Given the description of an element on the screen output the (x, y) to click on. 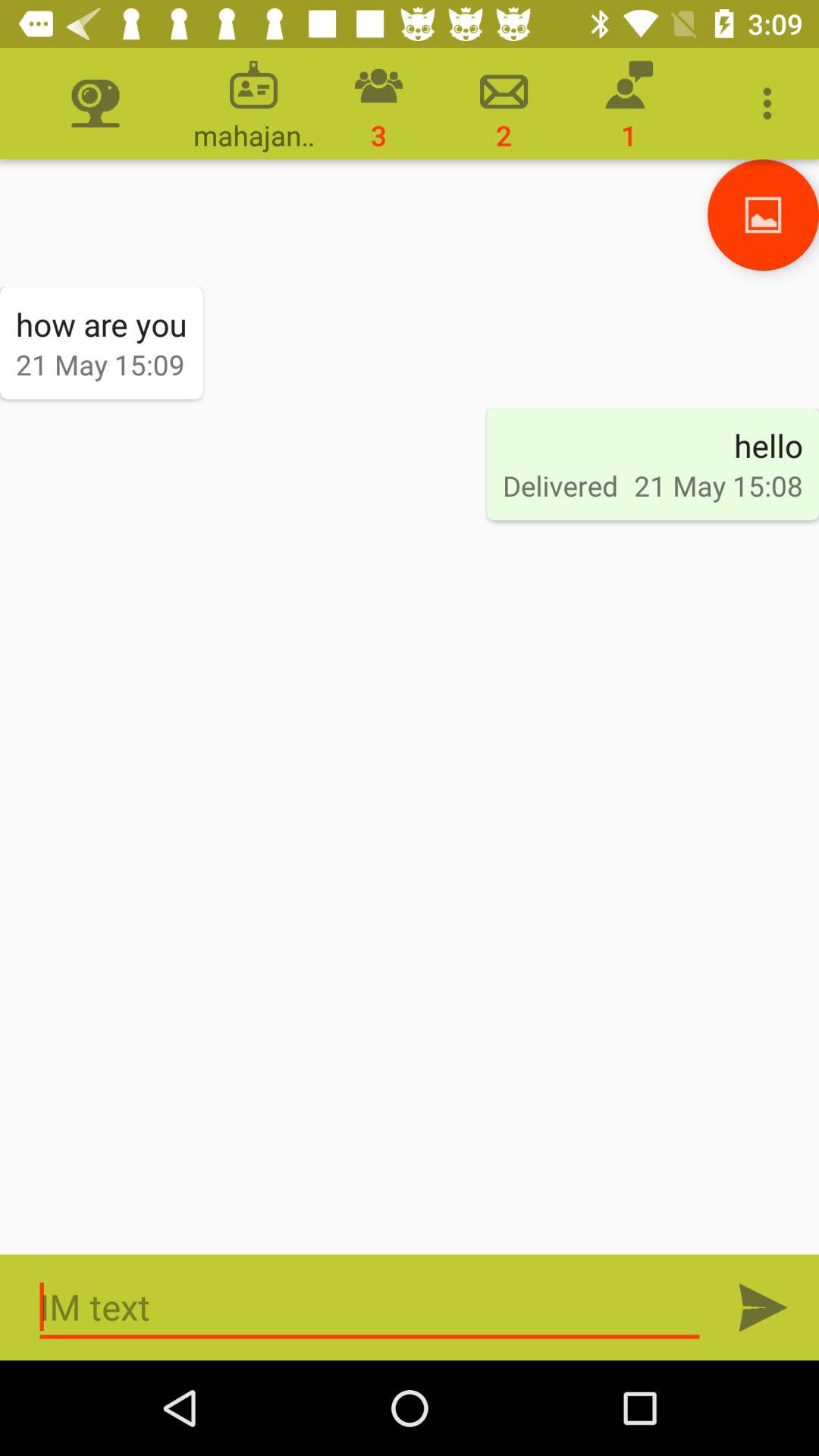
click on the group icon which has the text 3 (378, 103)
click on the second icon from top right corner (628, 103)
select the symbol at the bottom right corner of the page (763, 1307)
select the icon top to hello (763, 214)
select the field which contains the im text (369, 1307)
